Given the description of an element on the screen output the (x, y) to click on. 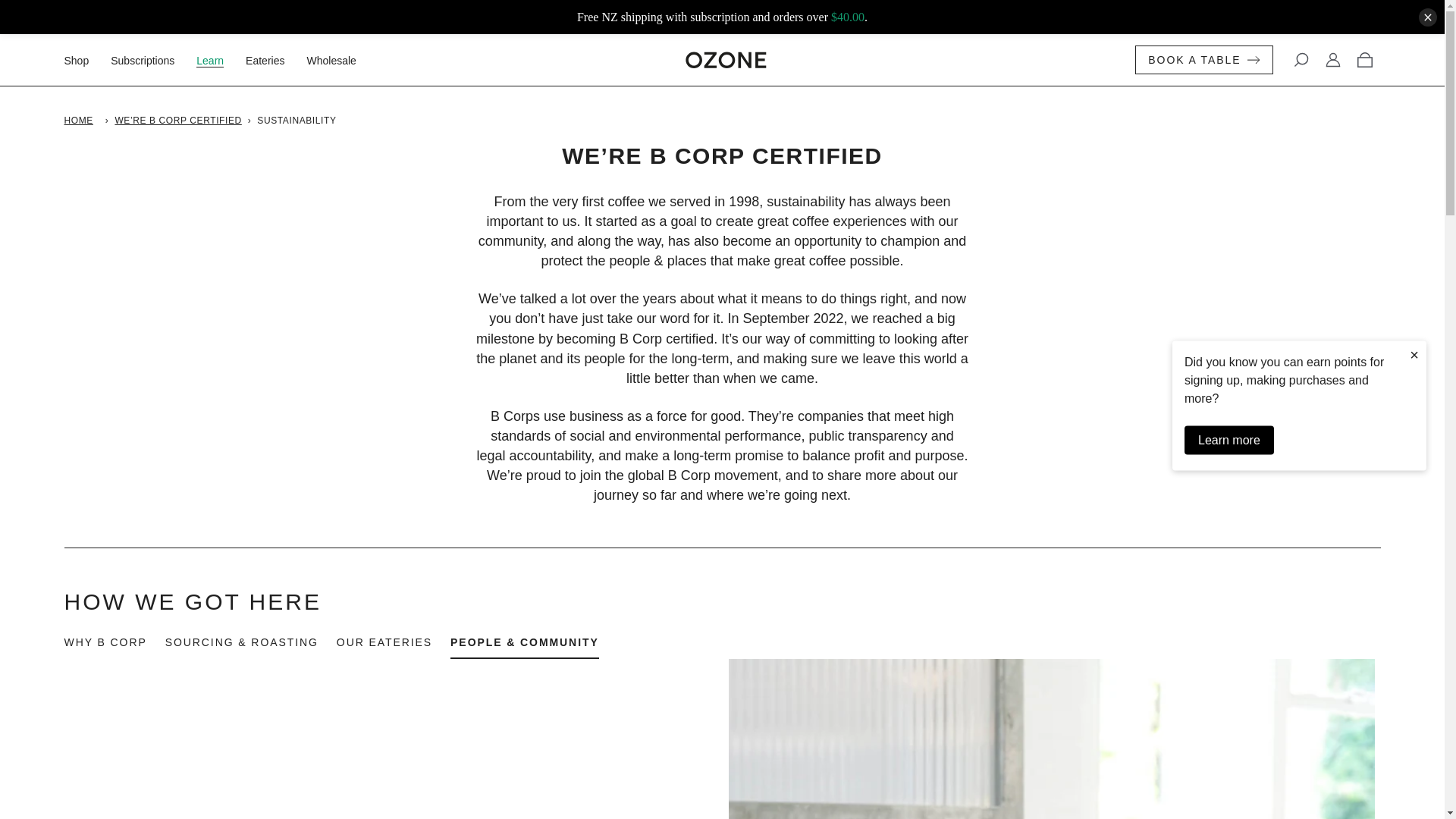
Cart (1364, 60)
Wholesale (339, 60)
BOOK A TABLE (1203, 59)
Subscriptions (151, 60)
Learn (218, 60)
Search (1300, 60)
Eateries (274, 60)
Shop (85, 60)
Back to the frontpage (81, 120)
Log in (1332, 60)
